Given the description of an element on the screen output the (x, y) to click on. 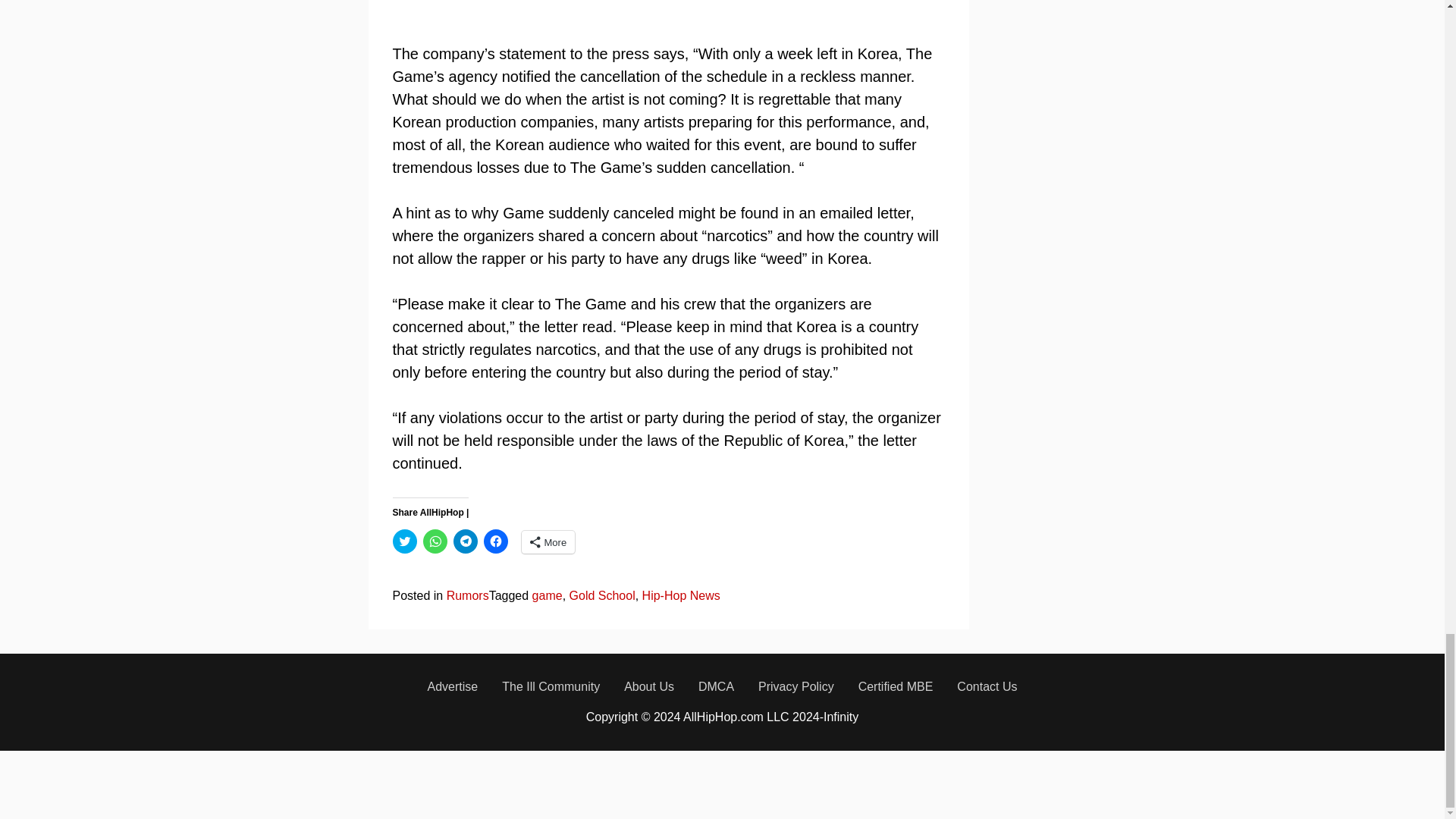
Click to share on Telegram (464, 541)
Click to share on Twitter (404, 541)
Click to share on Facebook (495, 541)
Click to share on WhatsApp (434, 541)
